Given the description of an element on the screen output the (x, y) to click on. 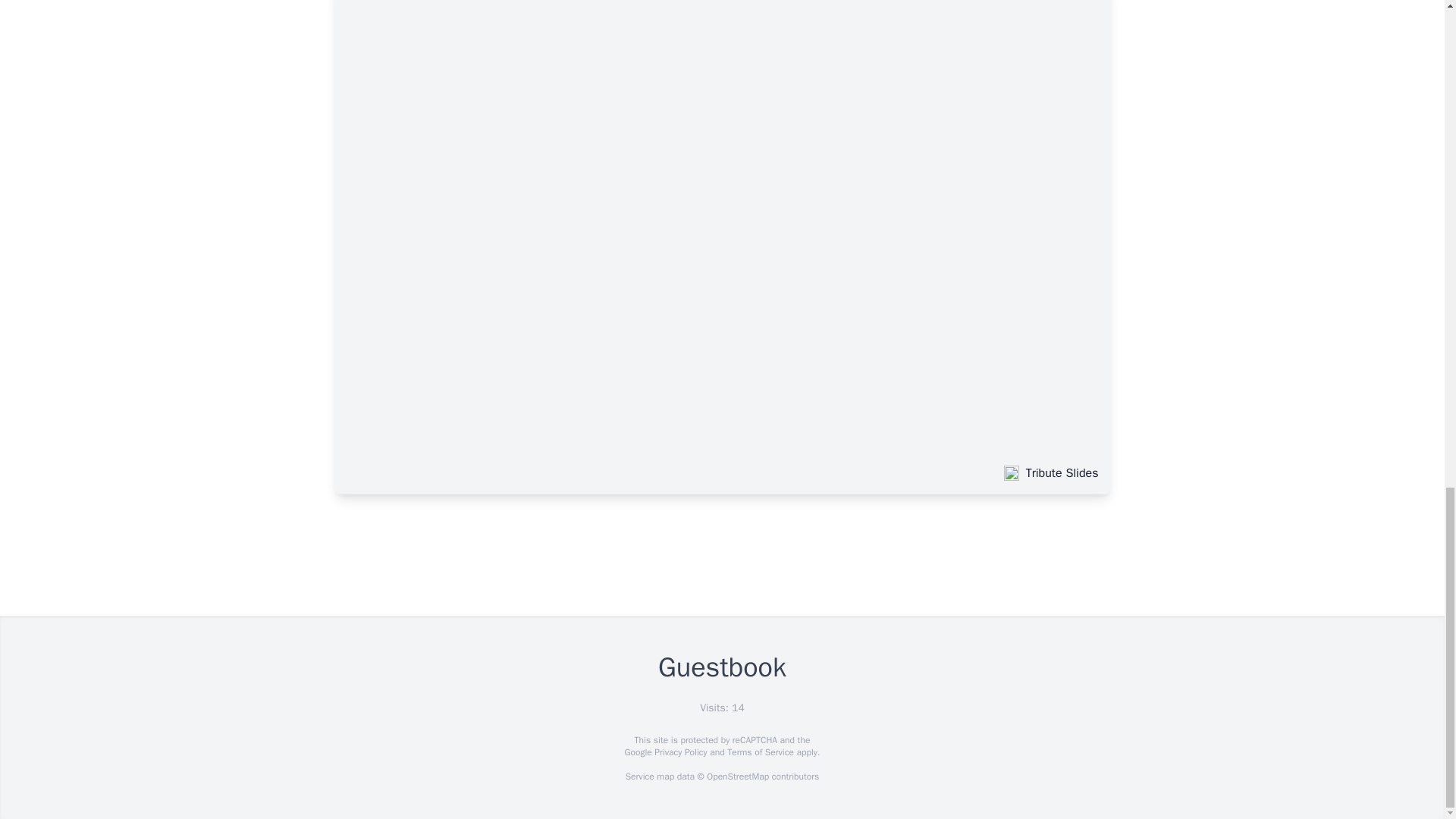
OpenStreetMap (737, 776)
Terms of Service (759, 752)
Privacy Policy (679, 752)
